Given the description of an element on the screen output the (x, y) to click on. 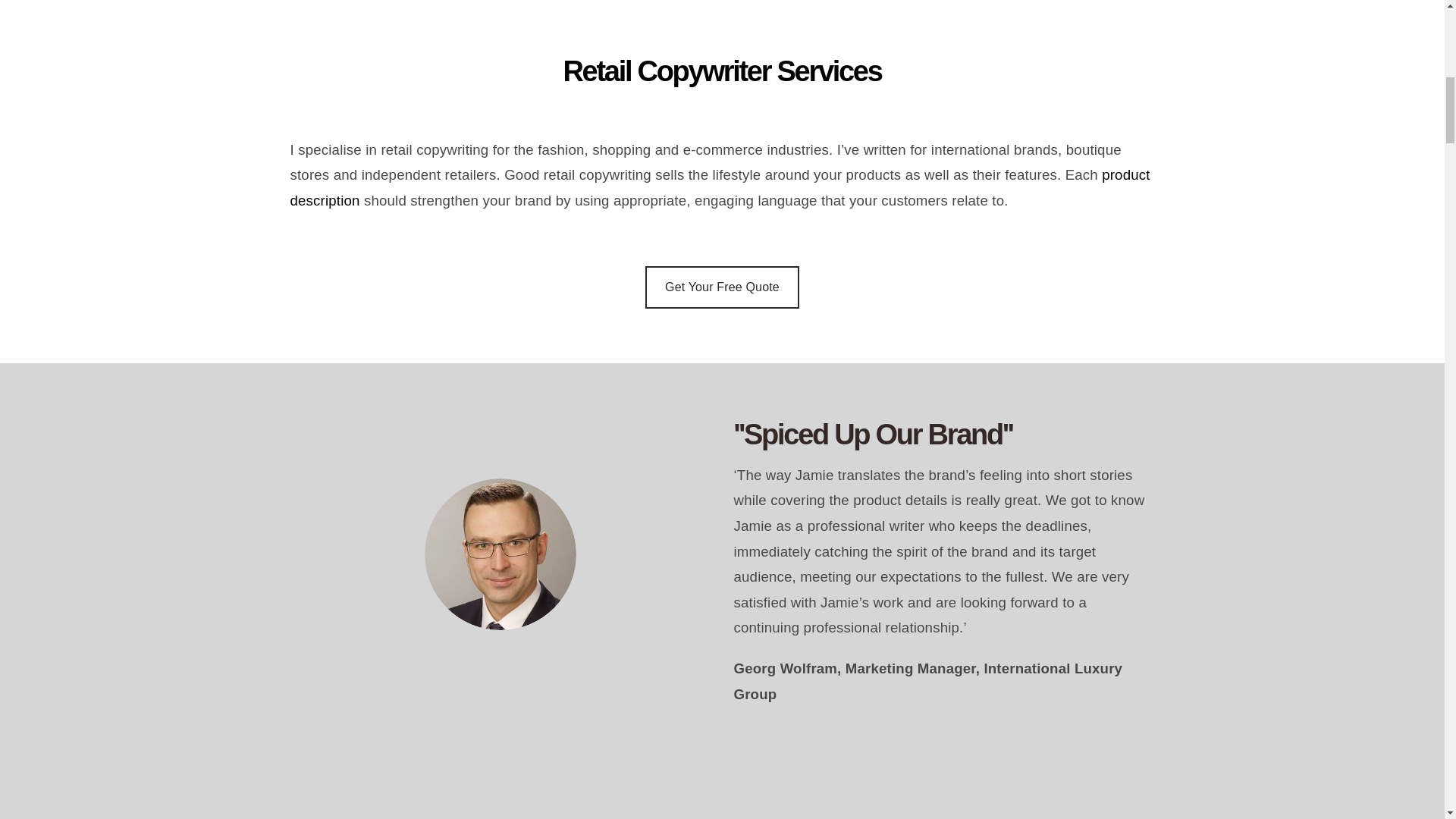
Get Your Free Quote (722, 287)
Georg Wolfram (500, 553)
''Spiced Up Our Brand'' (943, 434)
Retail Copywriter Services (721, 90)
